Given the description of an element on the screen output the (x, y) to click on. 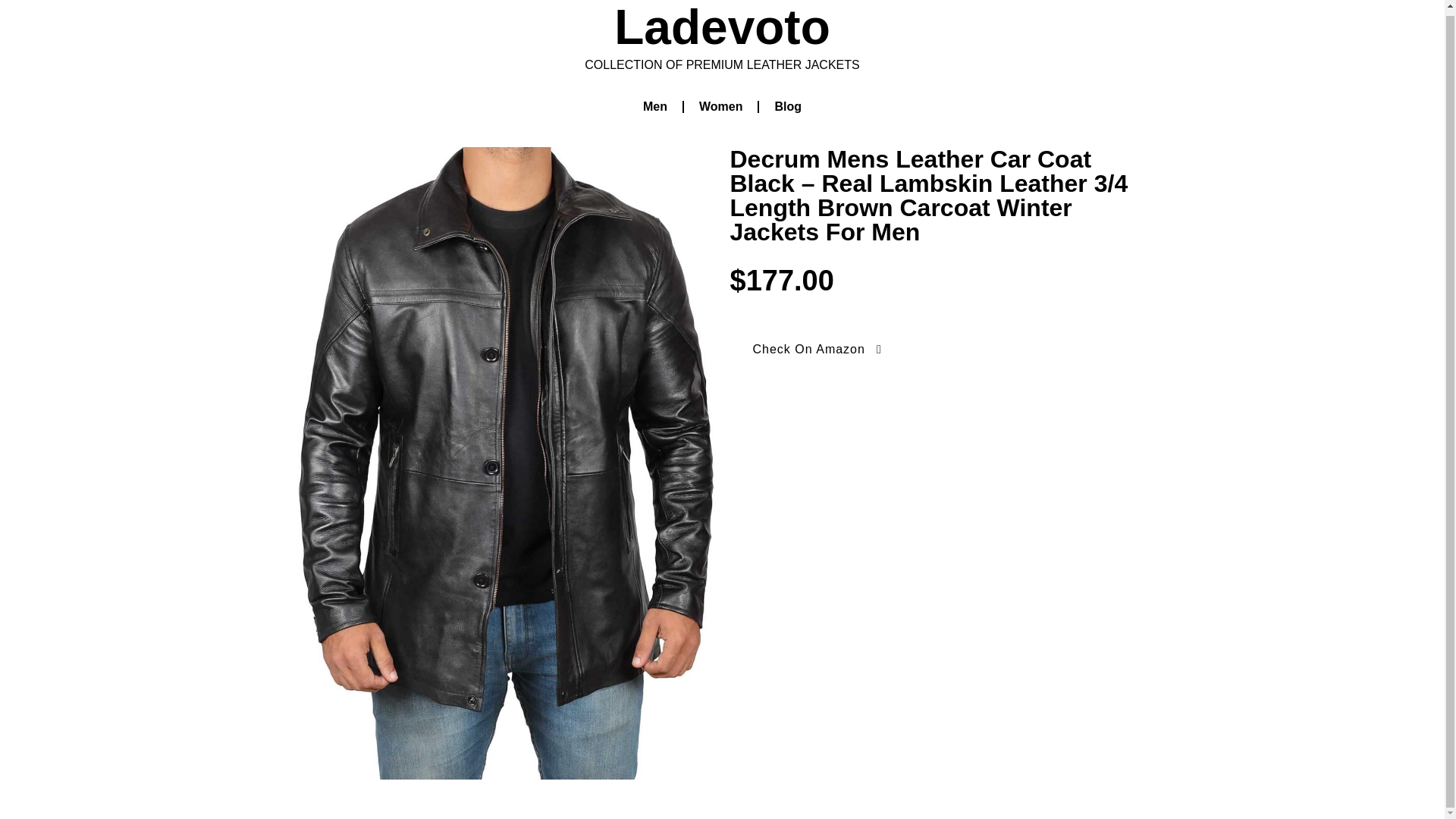
TERMS OF SERVICES (1074, 751)
Check on Amazon (359, 415)
AFFILIATE DISCLOSURE (1066, 786)
PRIVACY POLICY (941, 751)
Check on Amazon (576, 443)
